Given the description of an element on the screen output the (x, y) to click on. 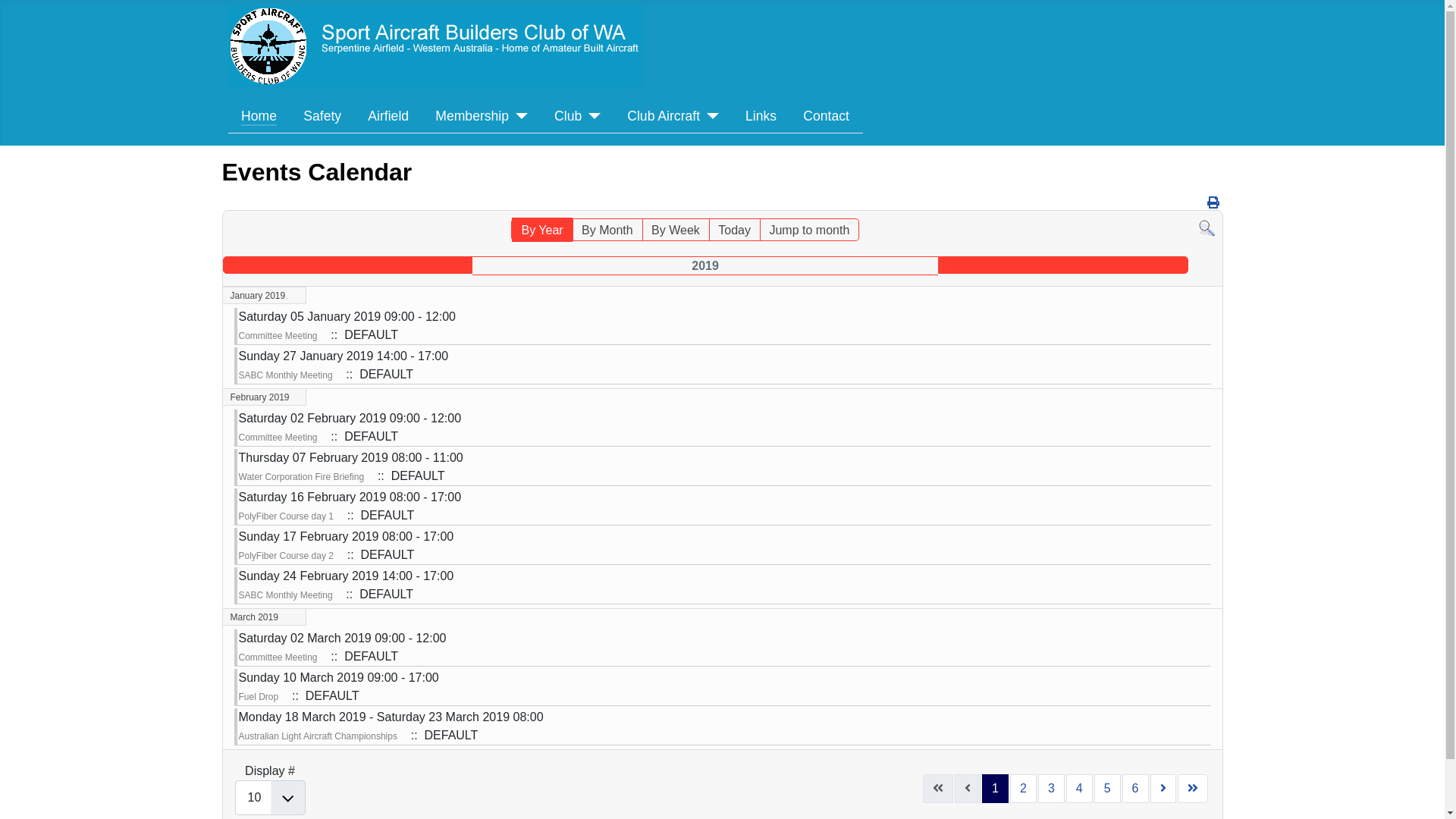
5 Element type: text (1107, 788)
By Week Element type: text (675, 229)
Today Element type: text (734, 229)
2 Element type: text (1023, 788)
Jump to month Element type: text (808, 229)
Airfield Element type: text (387, 115)
3 Element type: text (1051, 788)
By Year Element type: text (541, 229)
Links Element type: text (760, 115)
4 Element type: text (1079, 788)
Committee Meeting Element type: text (277, 335)
PolyFiber Course day 1 Element type: text (285, 516)
Australian Light Aircraft Championships Element type: text (317, 736)
Committee Meeting Element type: text (277, 437)
1 Element type: text (995, 788)
By Month Element type: text (607, 229)
PolyFiber Course day 2 Element type: text (285, 555)
SABC Monthly Meeting Element type: text (285, 375)
SABC Monthly Meeting Element type: text (285, 594)
Membership Element type: text (481, 115)
Safety Element type: text (322, 115)
6 Element type: text (1135, 788)
Club Aircraft Element type: text (672, 115)
Contact Element type: text (826, 115)
Committee Meeting Element type: text (277, 657)
Print Element type: hover (1213, 202)
Fuel Drop Element type: text (258, 696)
Club Element type: text (577, 115)
Water Corporation Fire Briefing Element type: text (301, 476)
Home Element type: text (258, 115)
Search Element type: hover (1206, 226)
